Given the description of an element on the screen output the (x, y) to click on. 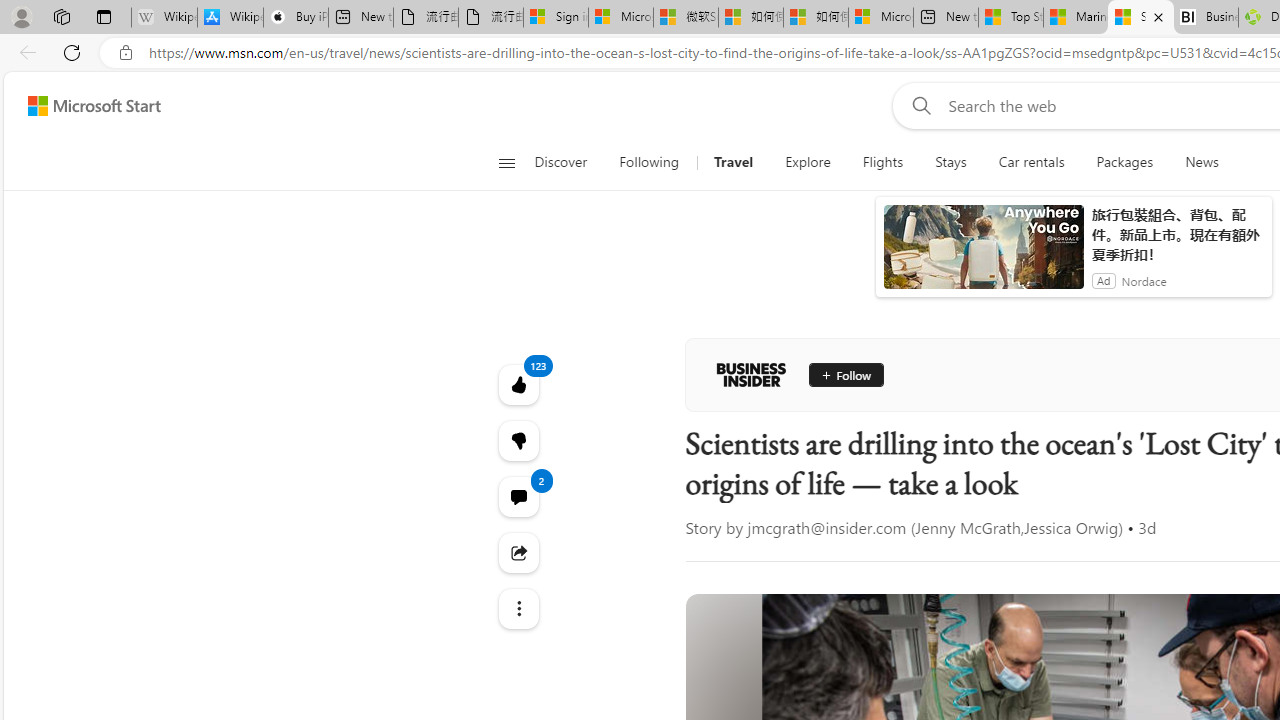
Packages (1124, 162)
Class: button-glyph (505, 162)
Microsoft account | Account Checkup (880, 17)
Explore (808, 162)
Skip to footer (82, 105)
Stays (951, 162)
Travel (733, 162)
